Given the description of an element on the screen output the (x, y) to click on. 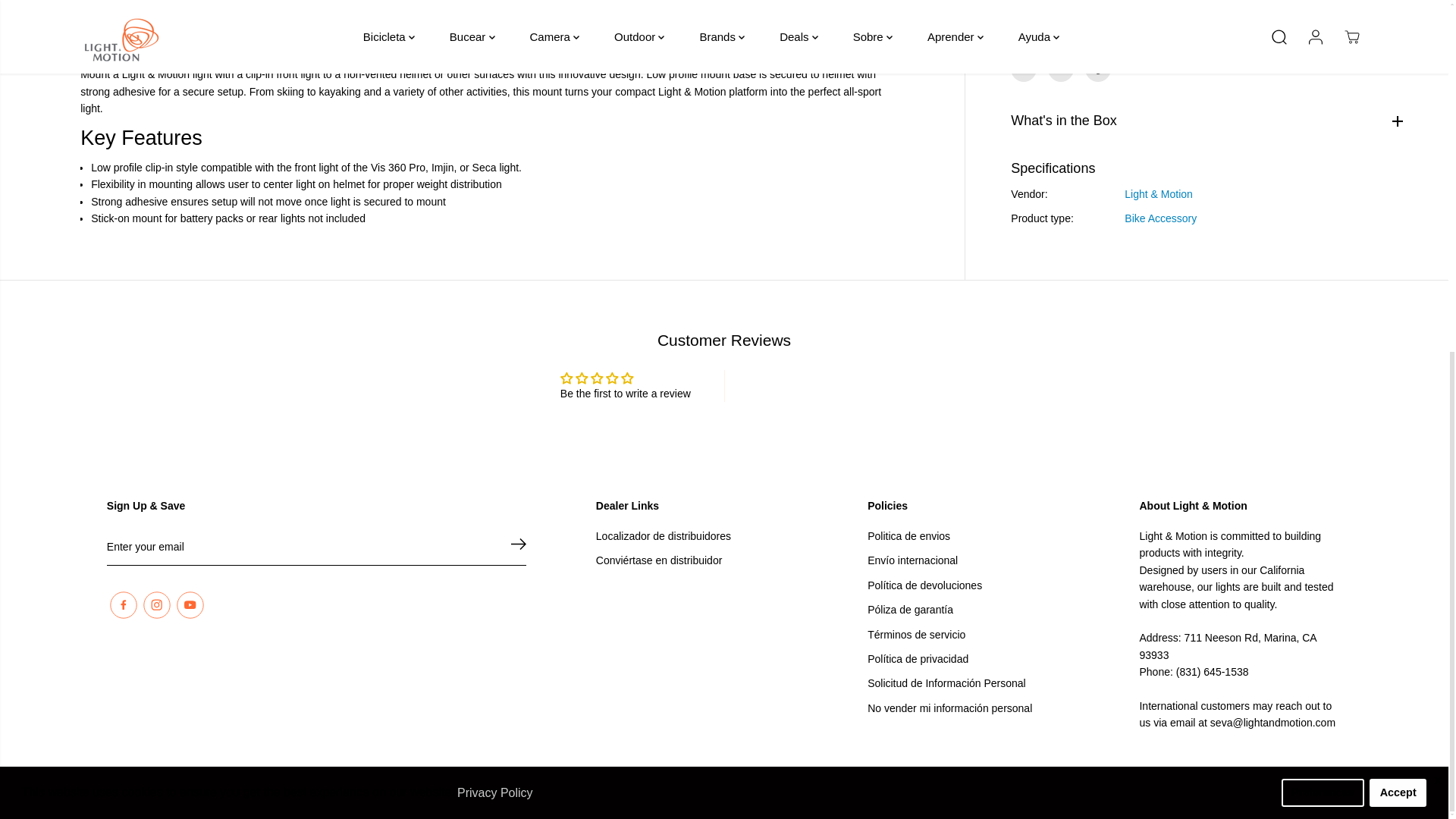
Bike Accessory (1160, 168)
Gorjeo (1061, 19)
Facebook (1023, 19)
Pinterest (1097, 19)
